Given the description of an element on the screen output the (x, y) to click on. 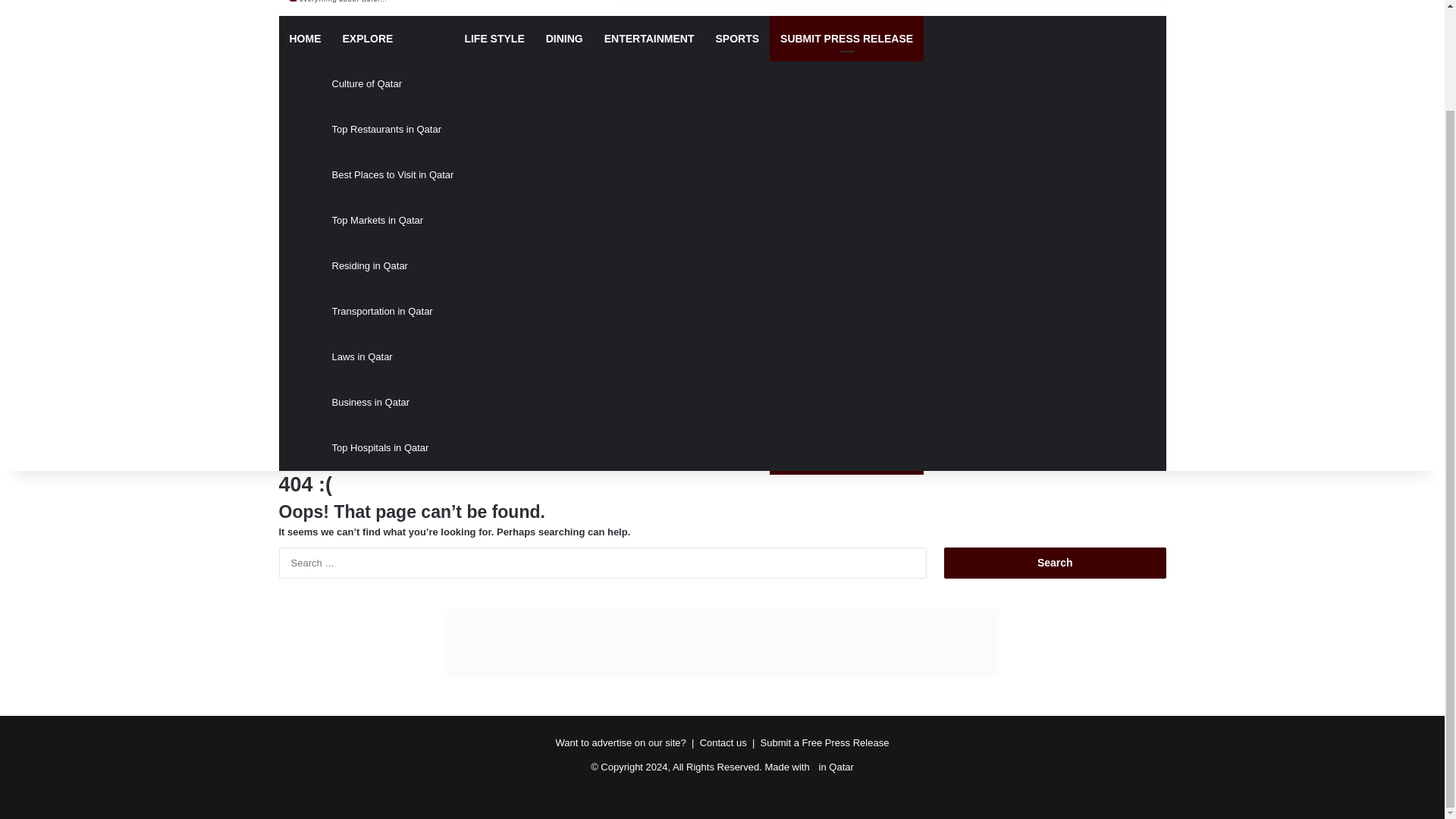
Search (1054, 562)
HOME (305, 38)
Top Restaurants in Qatar (392, 129)
Top Hospitals in Qatar (392, 447)
EXPLORE (392, 38)
LIFE STYLE (493, 38)
Laws in Qatar (392, 357)
Search (1054, 562)
Contact us (723, 742)
Submit a Free Press Release (824, 742)
